Given the description of an element on the screen output the (x, y) to click on. 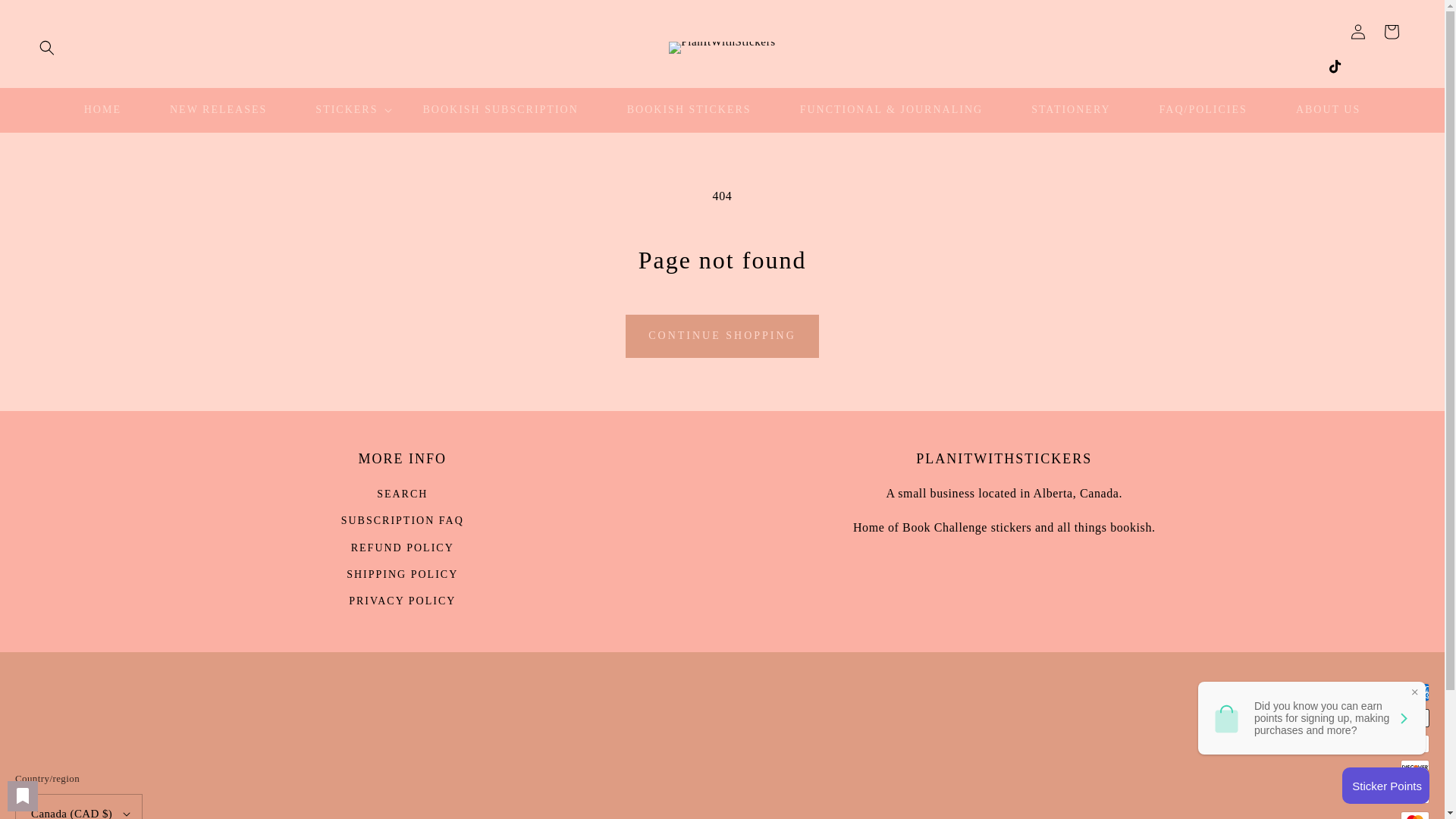
NEW RELEASES (218, 110)
Mastercard (1414, 815)
SKIP TO CONTENT (45, 16)
American Express (1414, 692)
HOME (102, 110)
Google Pay (1414, 794)
Discover (1414, 769)
LoyaltyLion beacon (1385, 785)
Apple Pay (1414, 718)
Diners Club (1414, 743)
